Given the description of an element on the screen output the (x, y) to click on. 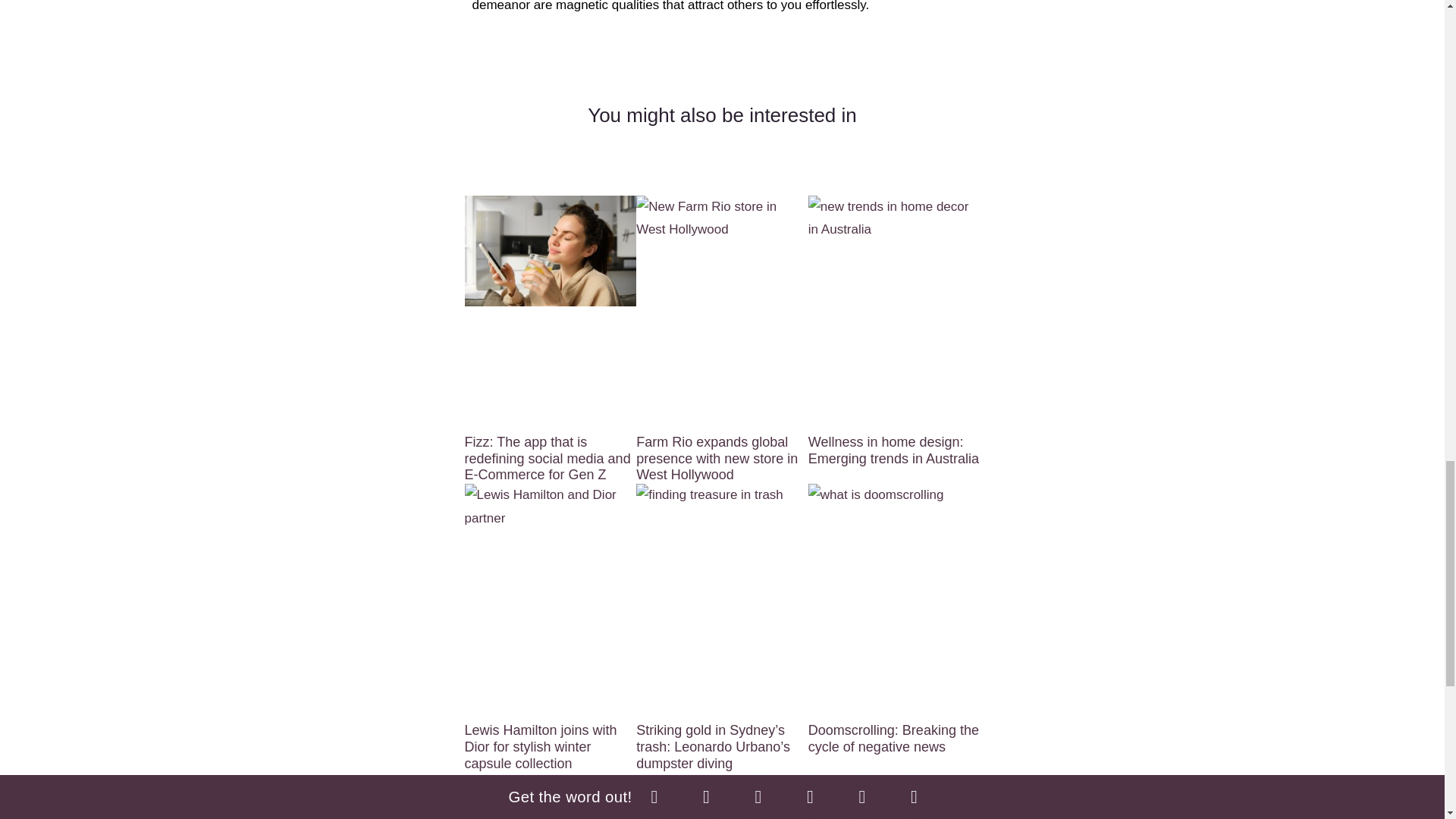
Wellness in home design: Emerging trends in Australia (893, 450)
Doomscrolling: Breaking the cycle of negative news (893, 738)
